Given the description of an element on the screen output the (x, y) to click on. 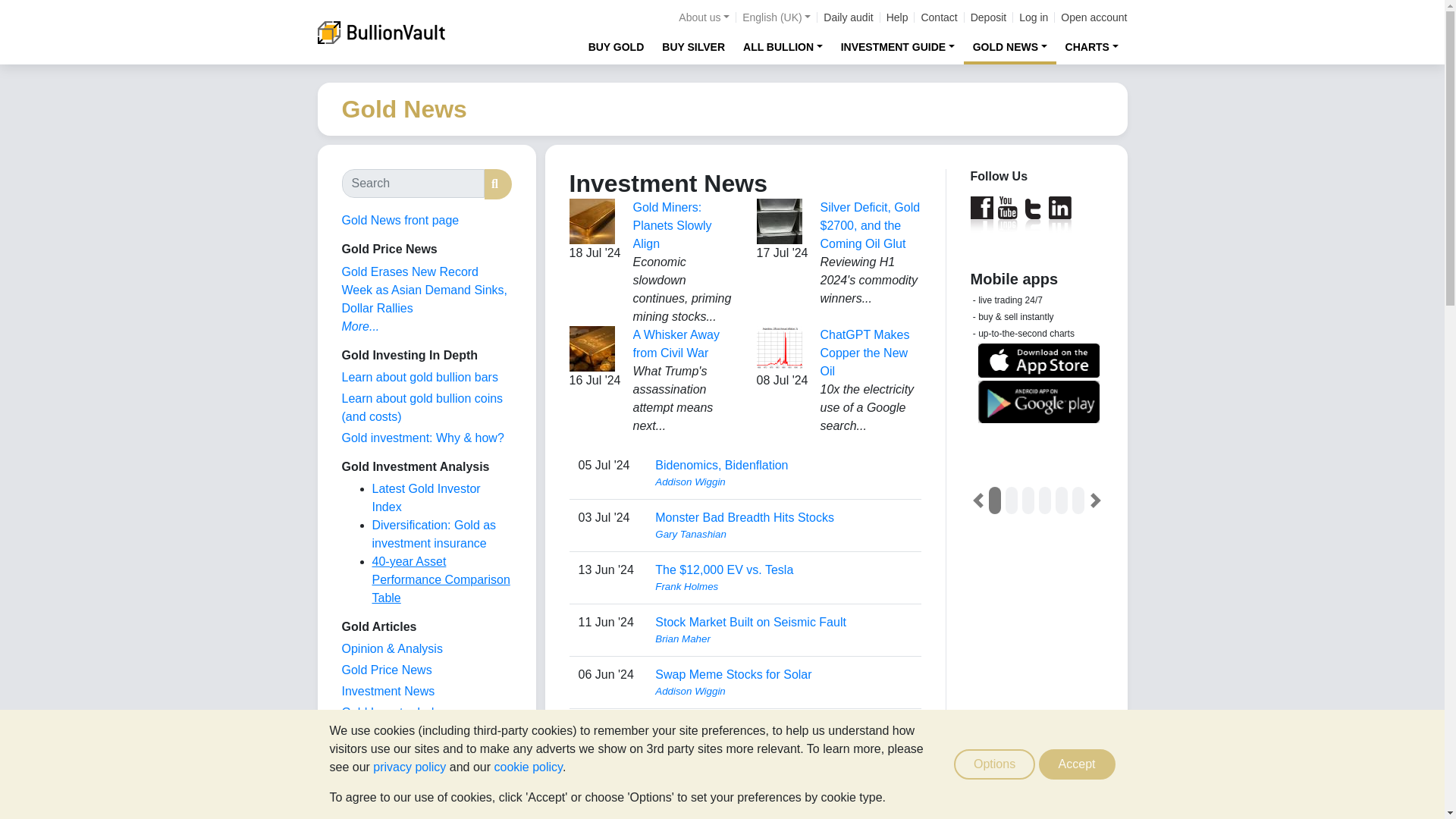
Gold Investor Index (393, 712)
Books about Gold Reviewed (372, 797)
Accept (1077, 764)
Deposit (988, 17)
Enter the terms you wish to search for. (411, 183)
Investment News (386, 690)
Open account (1093, 17)
cookie policy (528, 766)
View user profile. (783, 795)
The View from the Vault (391, 648)
View user profile. (783, 691)
Gold Price News (385, 669)
View user profile. (783, 586)
Market Fundamentals (399, 754)
About us (703, 17)
